Given the description of an element on the screen output the (x, y) to click on. 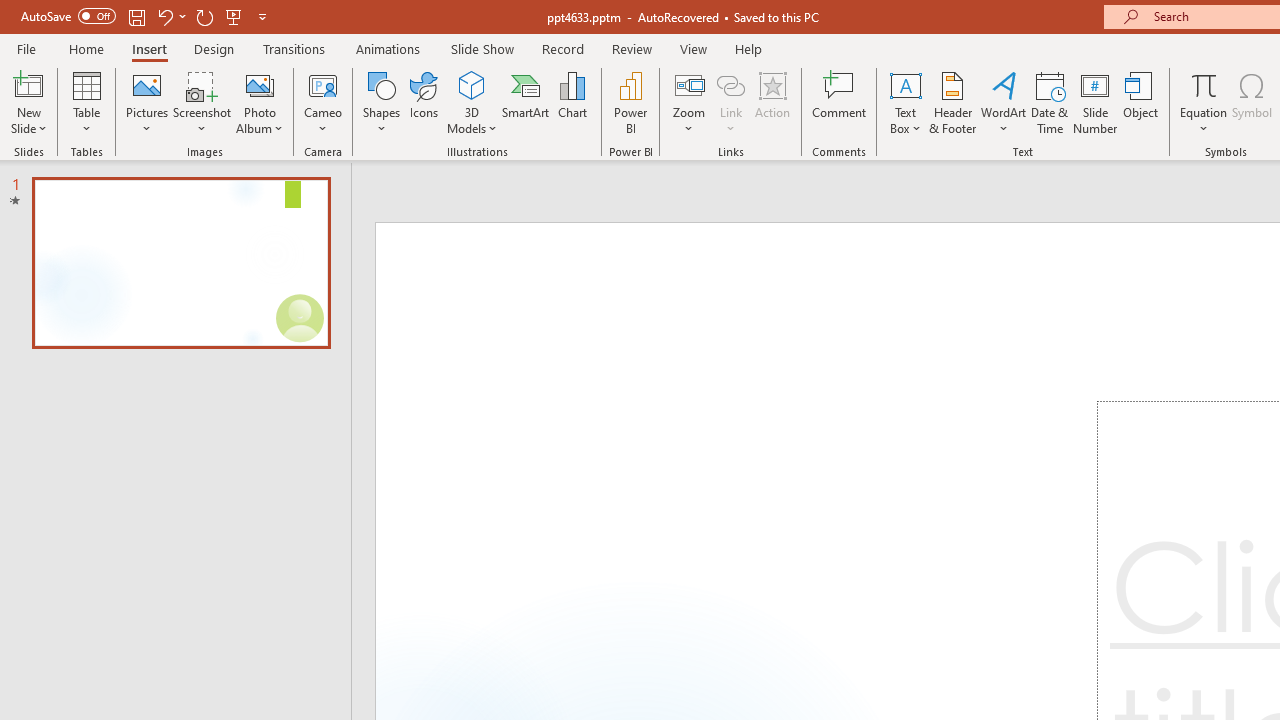
Table (86, 102)
Power BI (630, 102)
Slide Number (1095, 102)
3D Models (472, 102)
Link (731, 84)
Header & Footer... (952, 102)
Date & Time... (1050, 102)
Shapes (381, 102)
Text Box (905, 102)
